Given the description of an element on the screen output the (x, y) to click on. 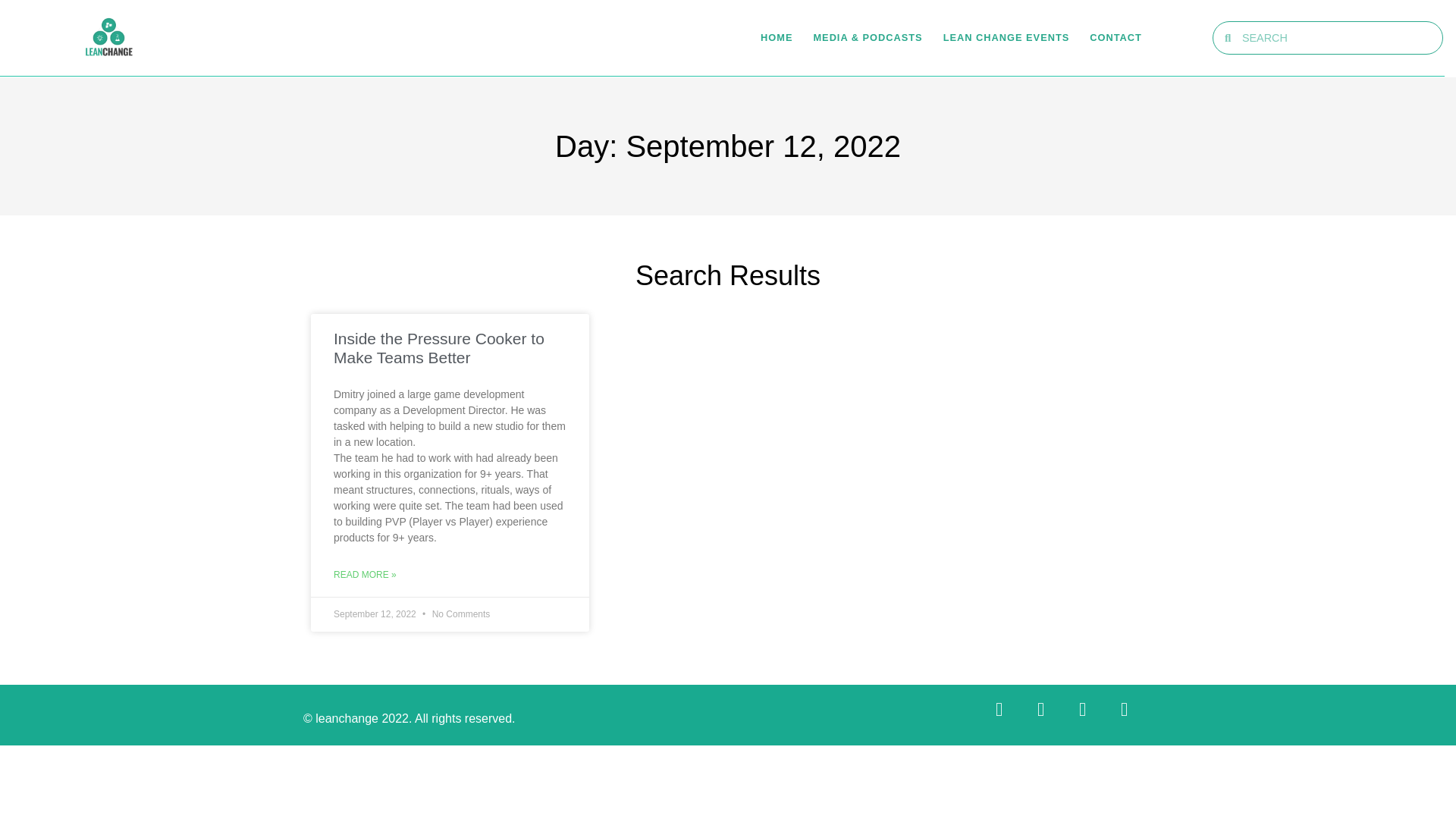
Search (1336, 38)
CONTACT (1115, 37)
Inside the Pressure Cooker to Make Teams Better (438, 348)
LEAN CHANGE EVENTS (1006, 37)
HOME (776, 37)
